Given the description of an element on the screen output the (x, y) to click on. 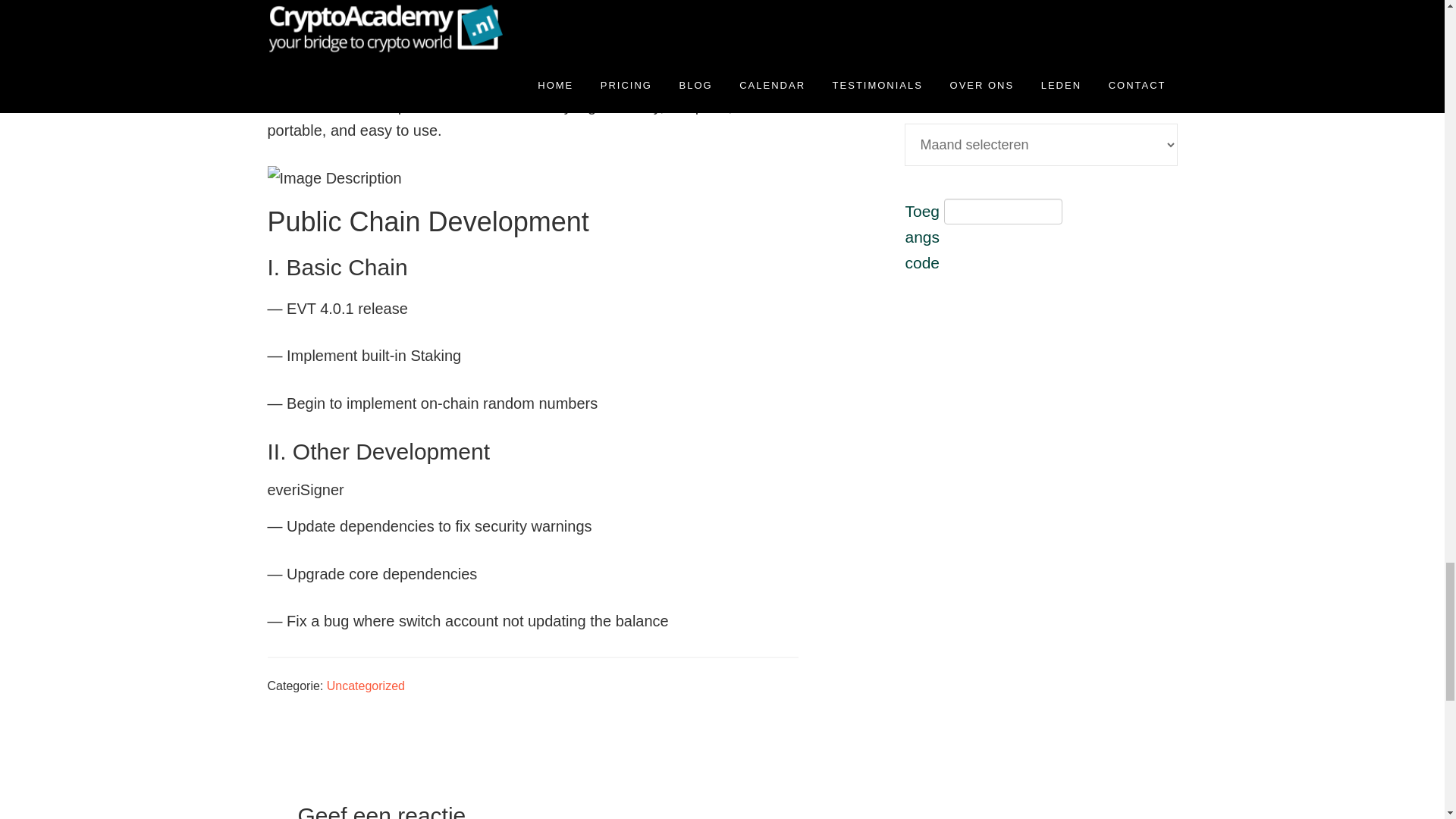
Uncategorized (365, 685)
